Given the description of an element on the screen output the (x, y) to click on. 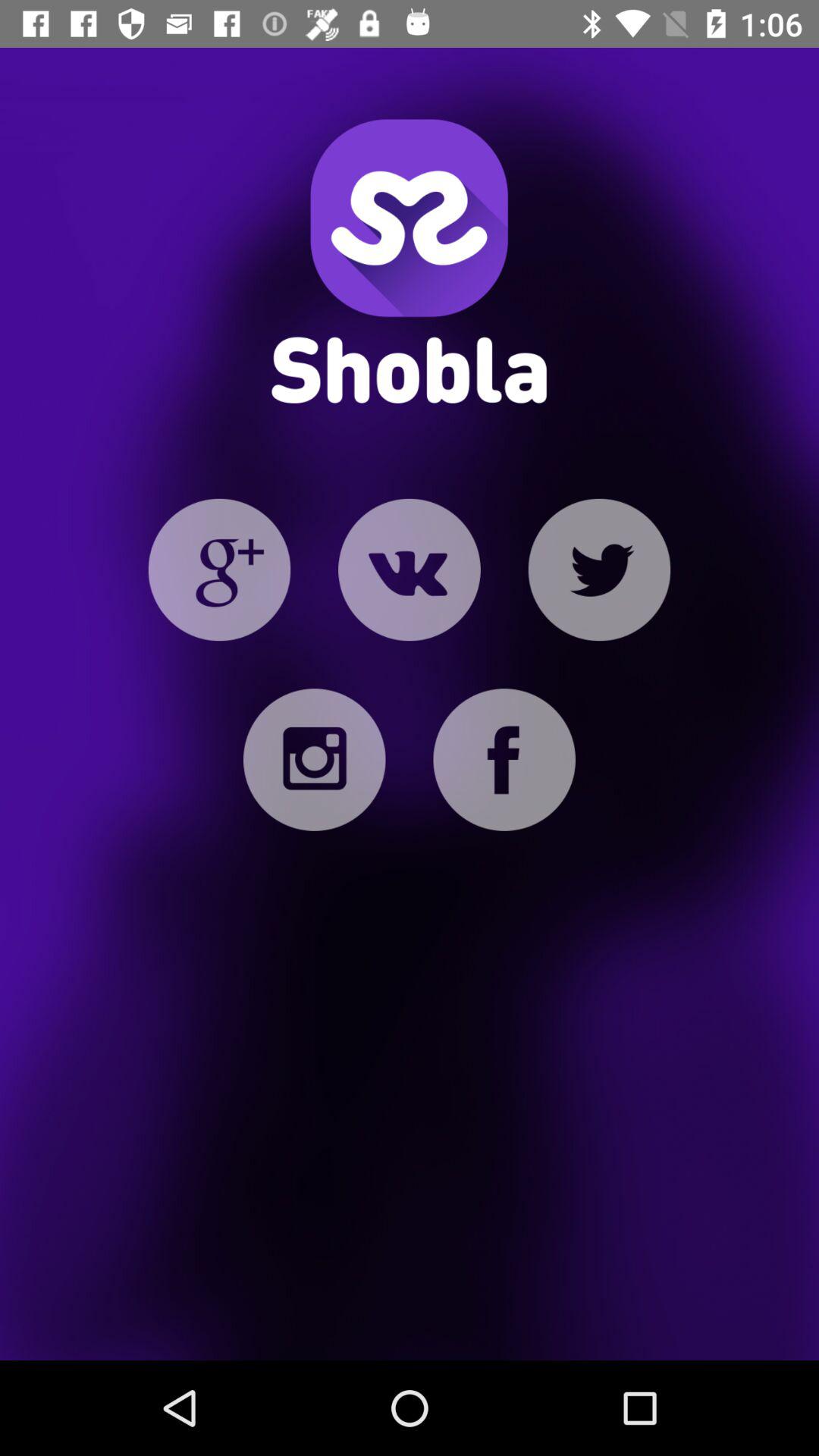
facebook (504, 759)
